Given the description of an element on the screen output the (x, y) to click on. 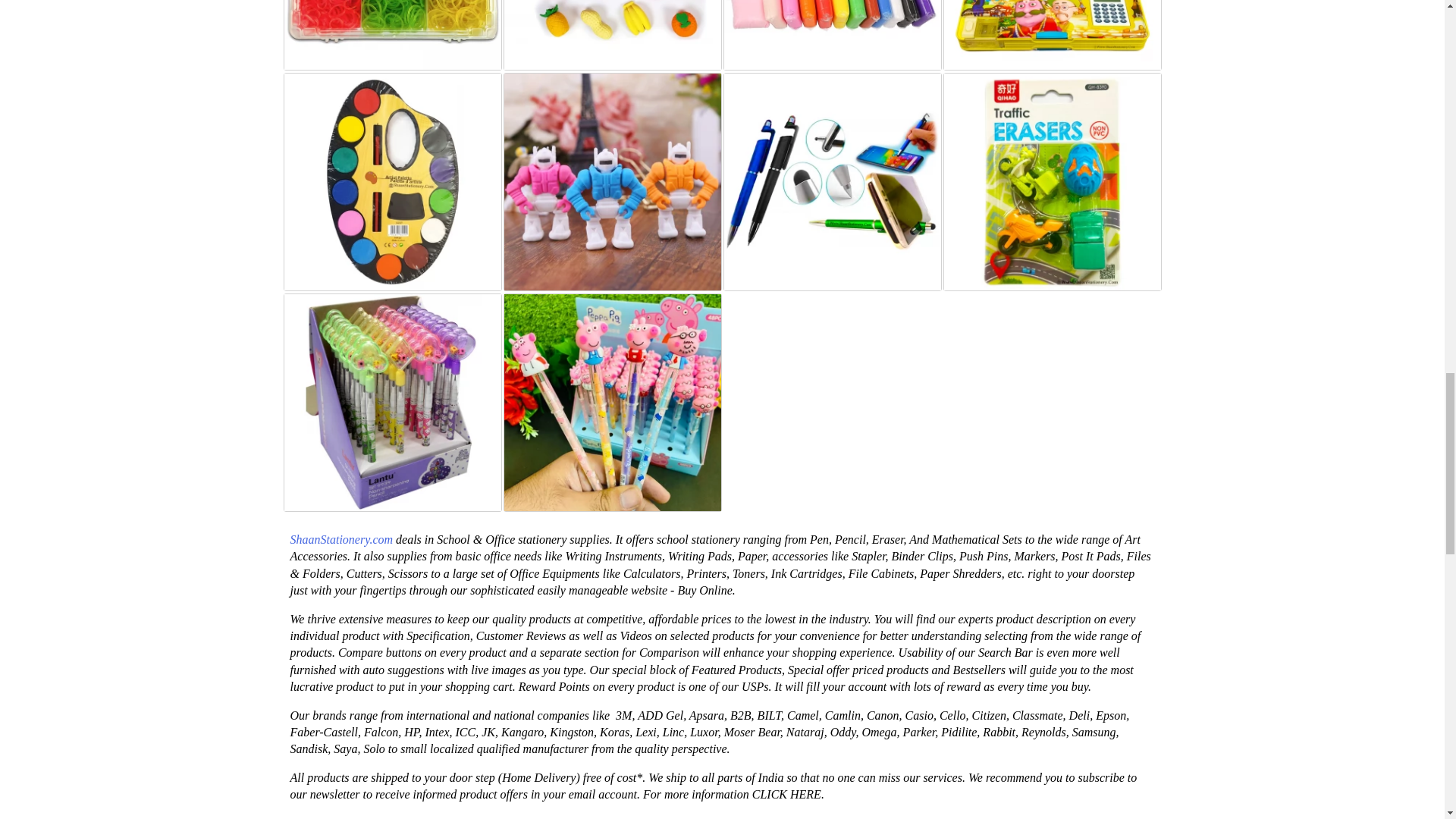
Artist Painting Palette with 12 Shades Cake and Brush (391, 181)
